Given the description of an element on the screen output the (x, y) to click on. 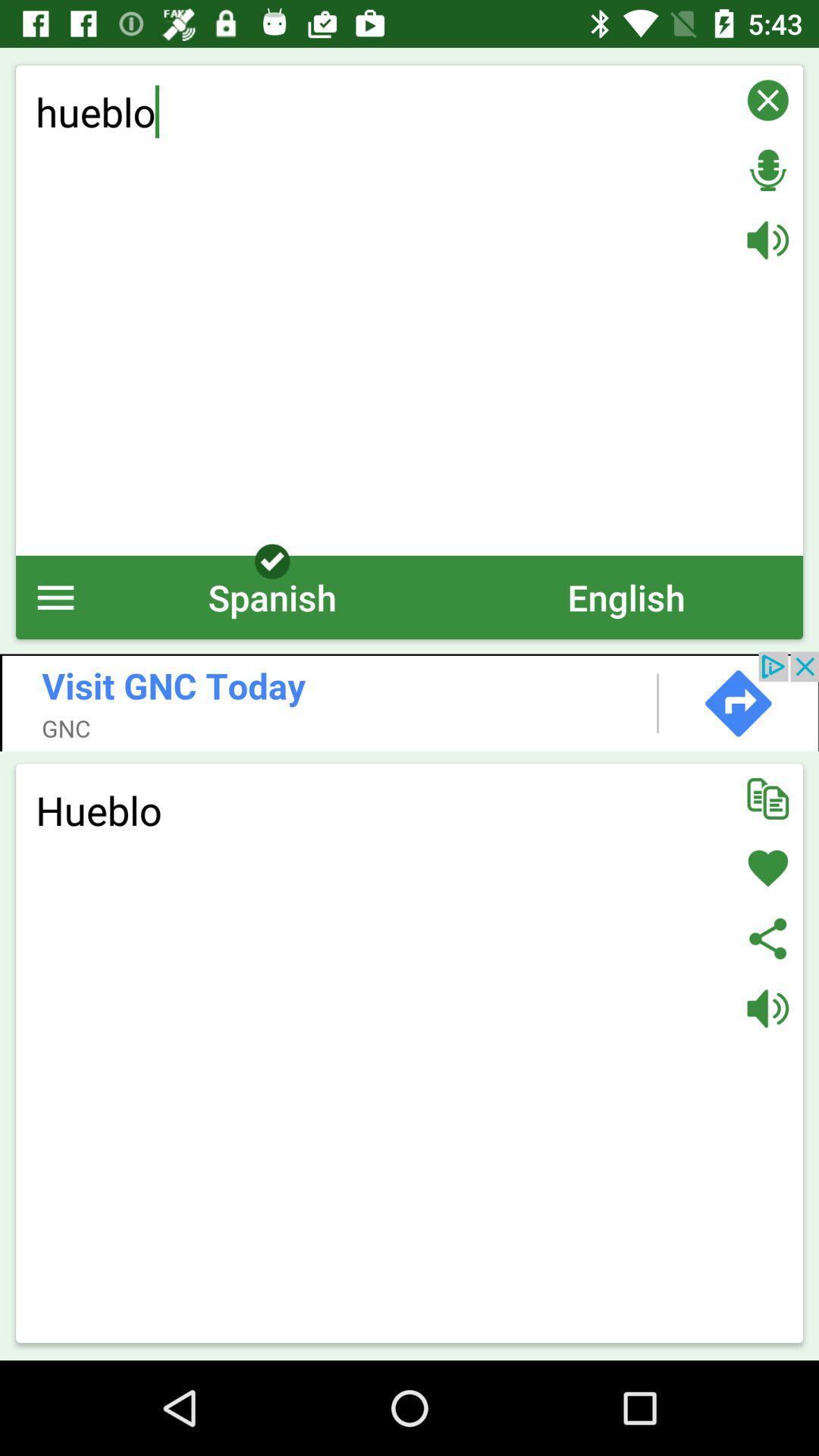
press icon to the right of the spanish (626, 597)
